Given the description of an element on the screen output the (x, y) to click on. 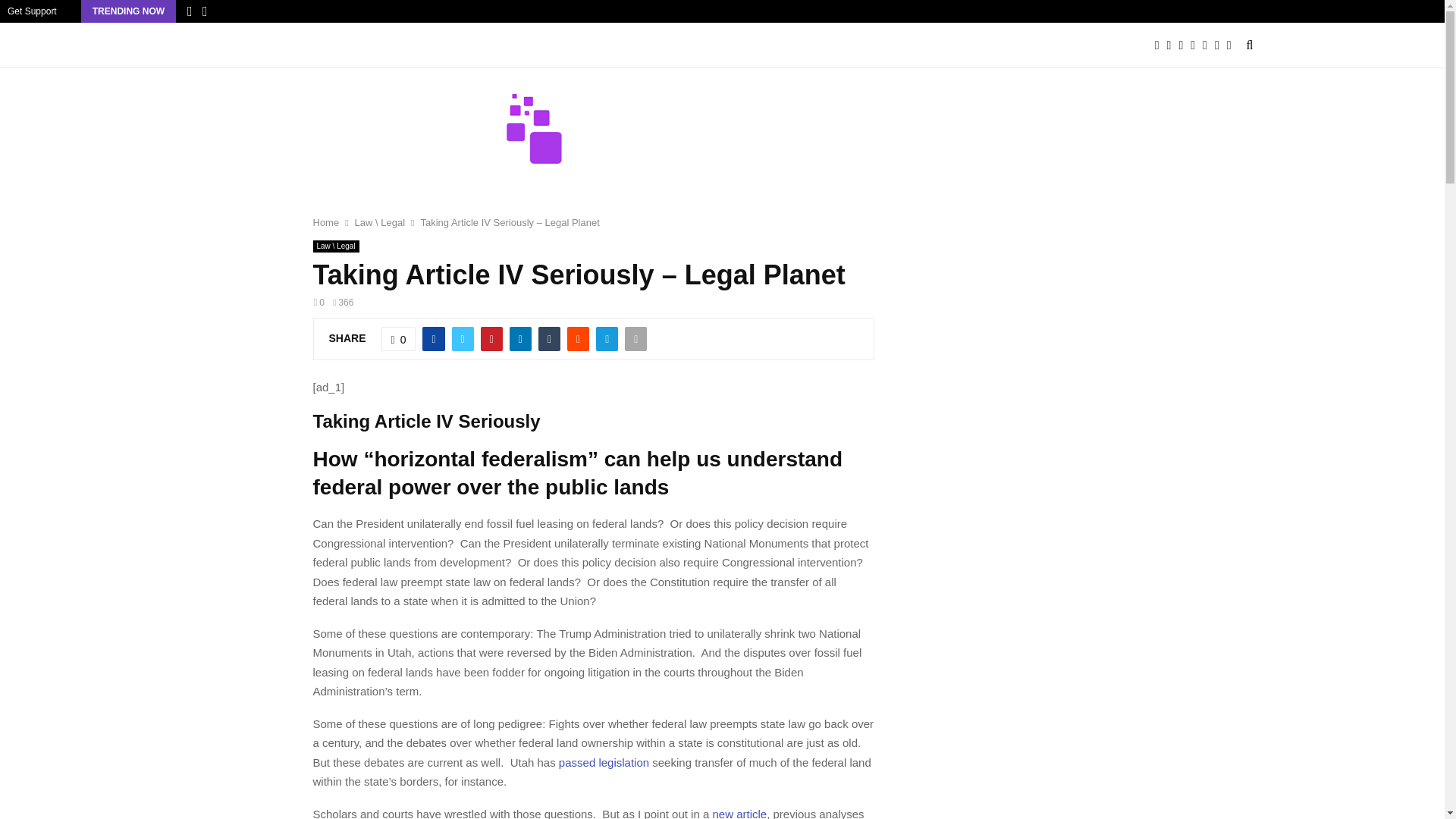
TECHNOLOGY (834, 44)
Like (398, 338)
SHOPPING (745, 44)
NEWS (979, 44)
FINANCE (469, 44)
HOME IMPROVEMENT (637, 44)
EDUCATION (392, 44)
TRAVEL (915, 44)
AUTOMOTIVE (226, 44)
BUSINESS (312, 44)
